Given the description of an element on the screen output the (x, y) to click on. 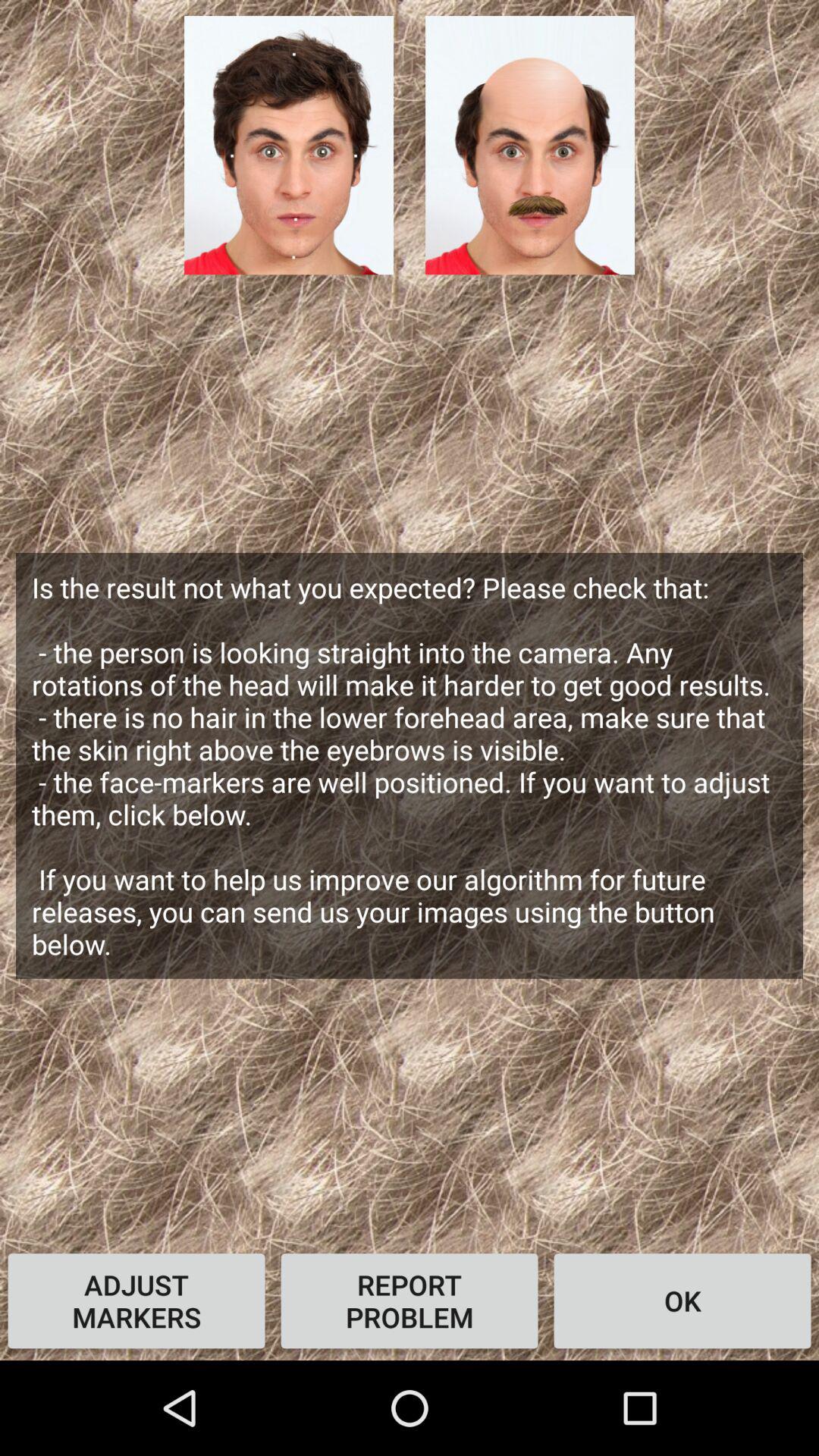
tap the report problem item (409, 1300)
